Given the description of an element on the screen output the (x, y) to click on. 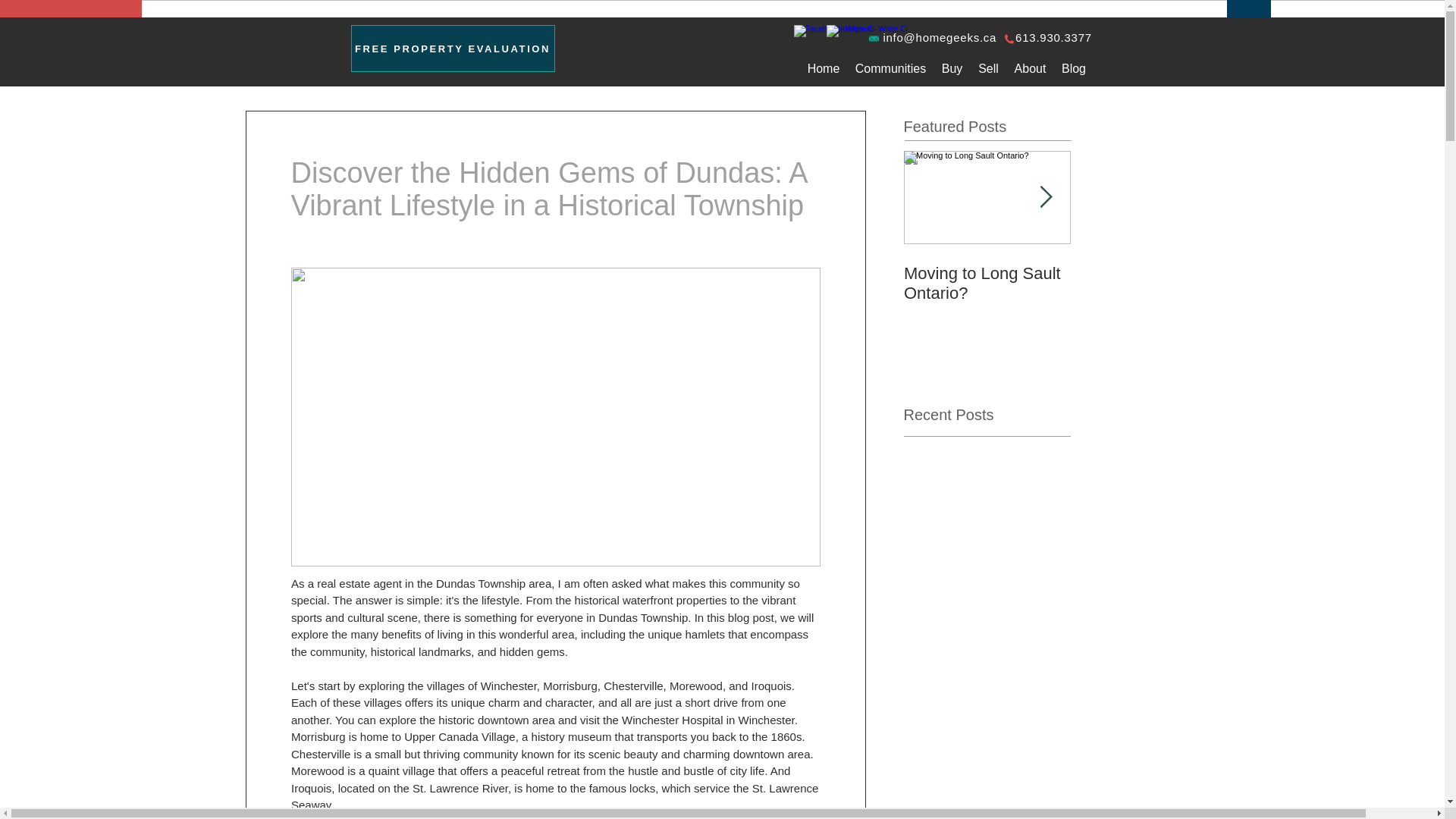
613.930.3377 (1053, 37)
Home (823, 68)
Sell (989, 68)
colour-bar.jpg (774, 9)
Moving to Long Sault Ontario? (987, 283)
Blog (1074, 68)
FREE PROPERTY EVALUATION (452, 48)
Buy (952, 68)
Communities (890, 68)
About (1030, 68)
